Given the description of an element on the screen output the (x, y) to click on. 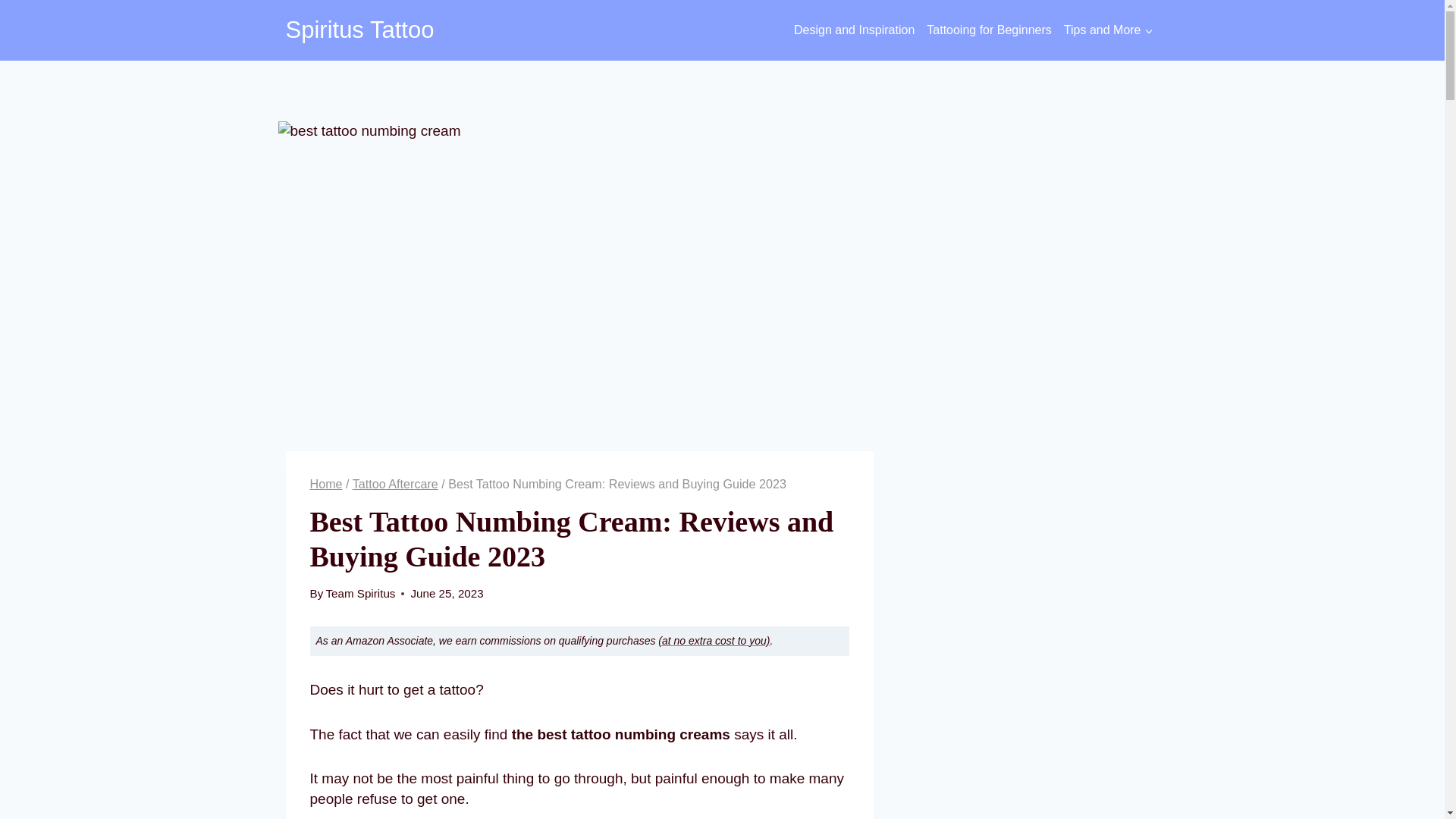
Tips and More (1108, 29)
Design and Inspiration (853, 29)
Tattoo Aftercare (395, 483)
Team Spiritus (359, 593)
Home (325, 483)
Spiritus Tattoo (359, 29)
Tattooing for Beginners (989, 29)
